Given the description of an element on the screen output the (x, y) to click on. 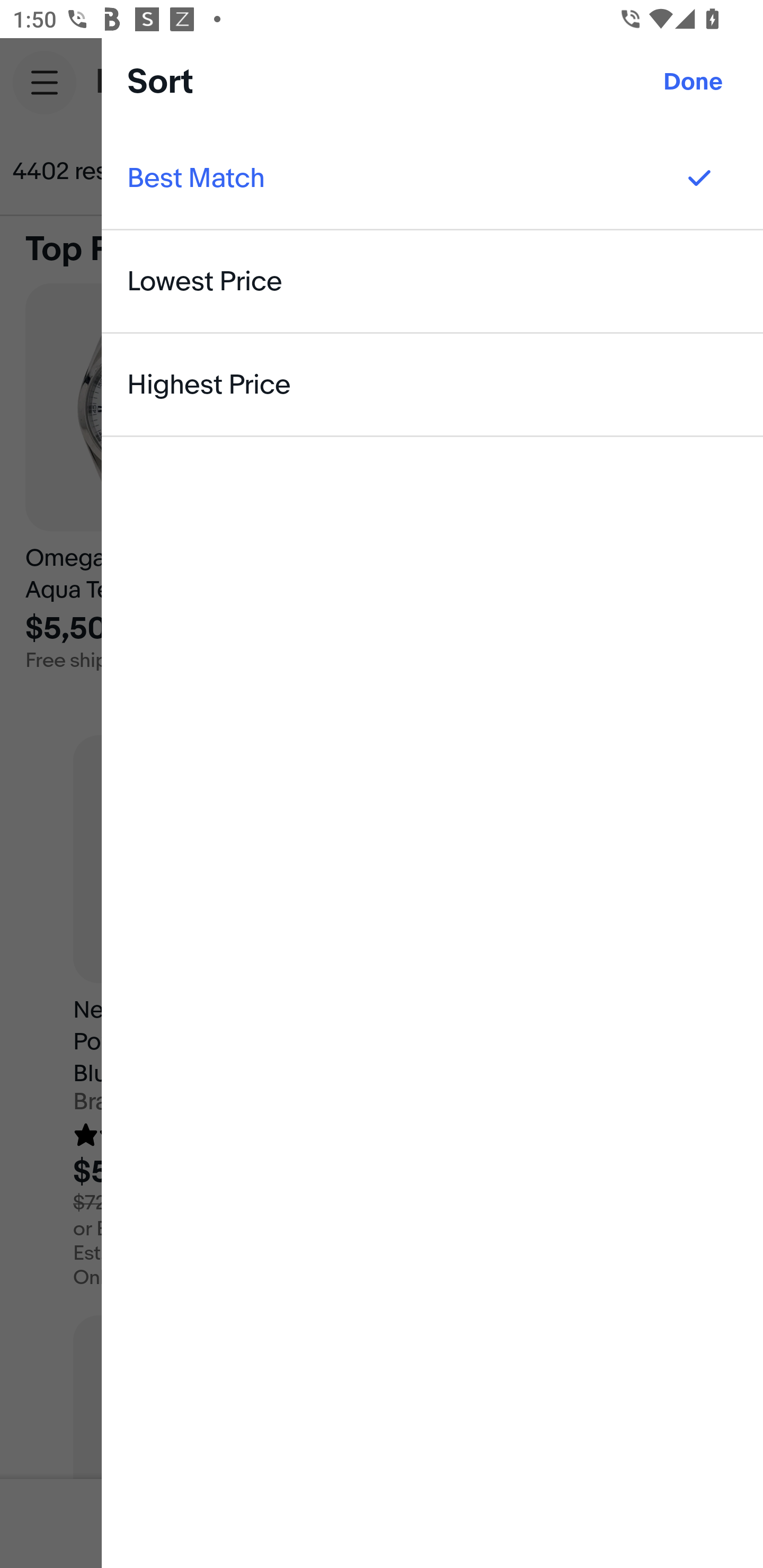
Done (693, 82)
Filter (686, 171)
